Given the description of an element on the screen output the (x, y) to click on. 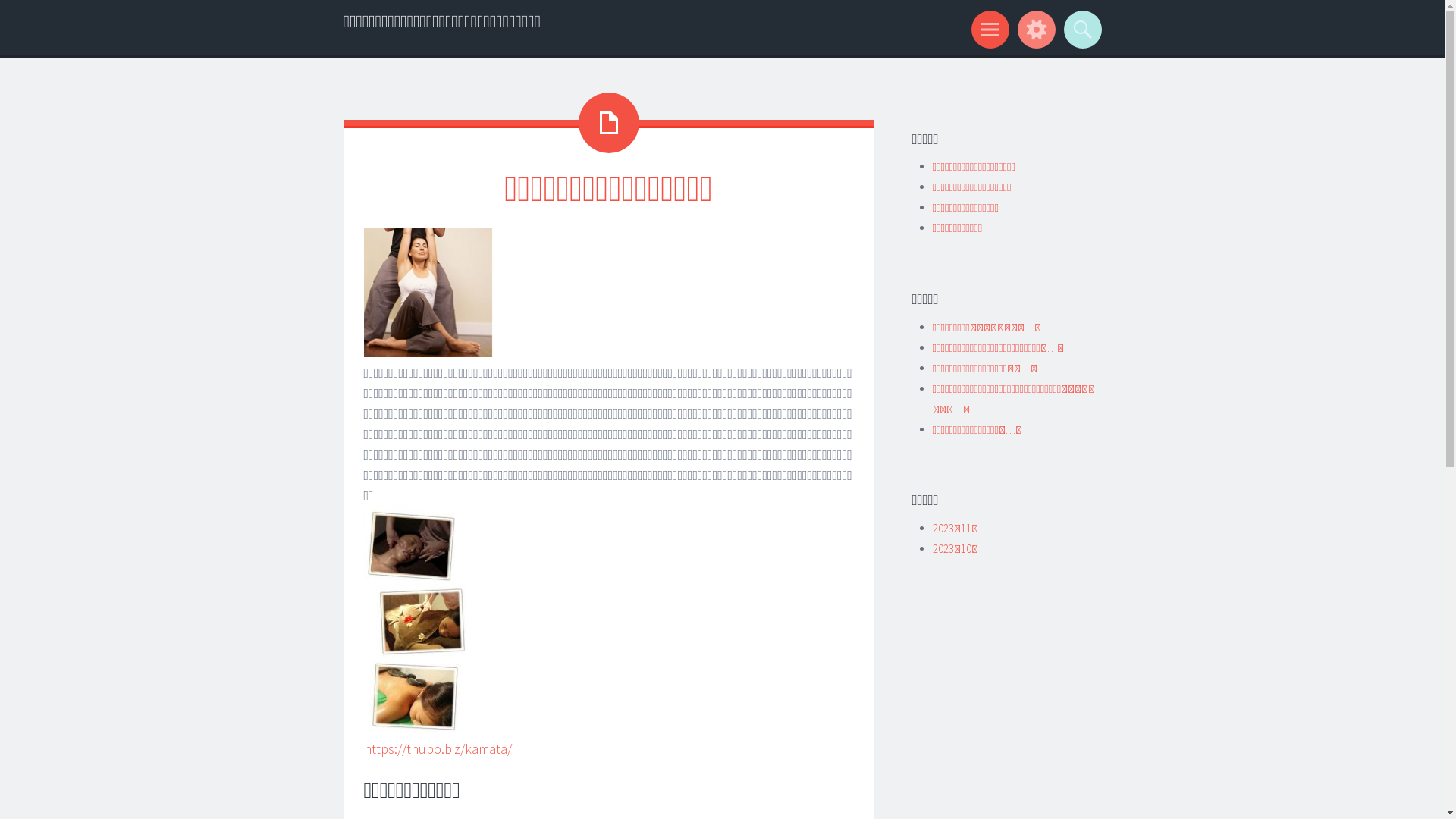
https://thubo.biz/kamata/ Element type: text (437, 748)
